Given the description of an element on the screen output the (x, y) to click on. 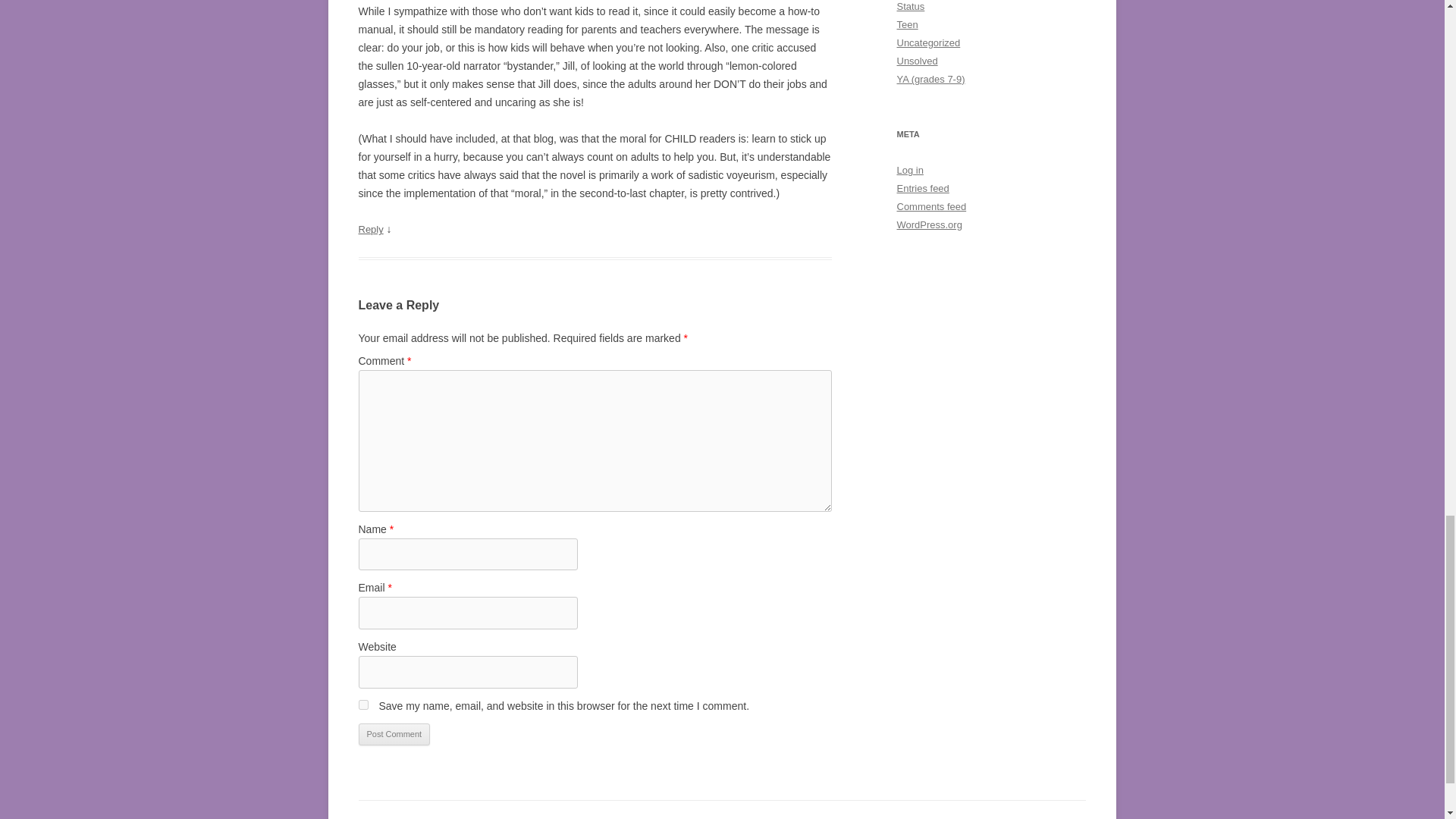
Reply (370, 229)
Post Comment (393, 734)
Post Comment (393, 734)
yes (363, 705)
